Given the description of an element on the screen output the (x, y) to click on. 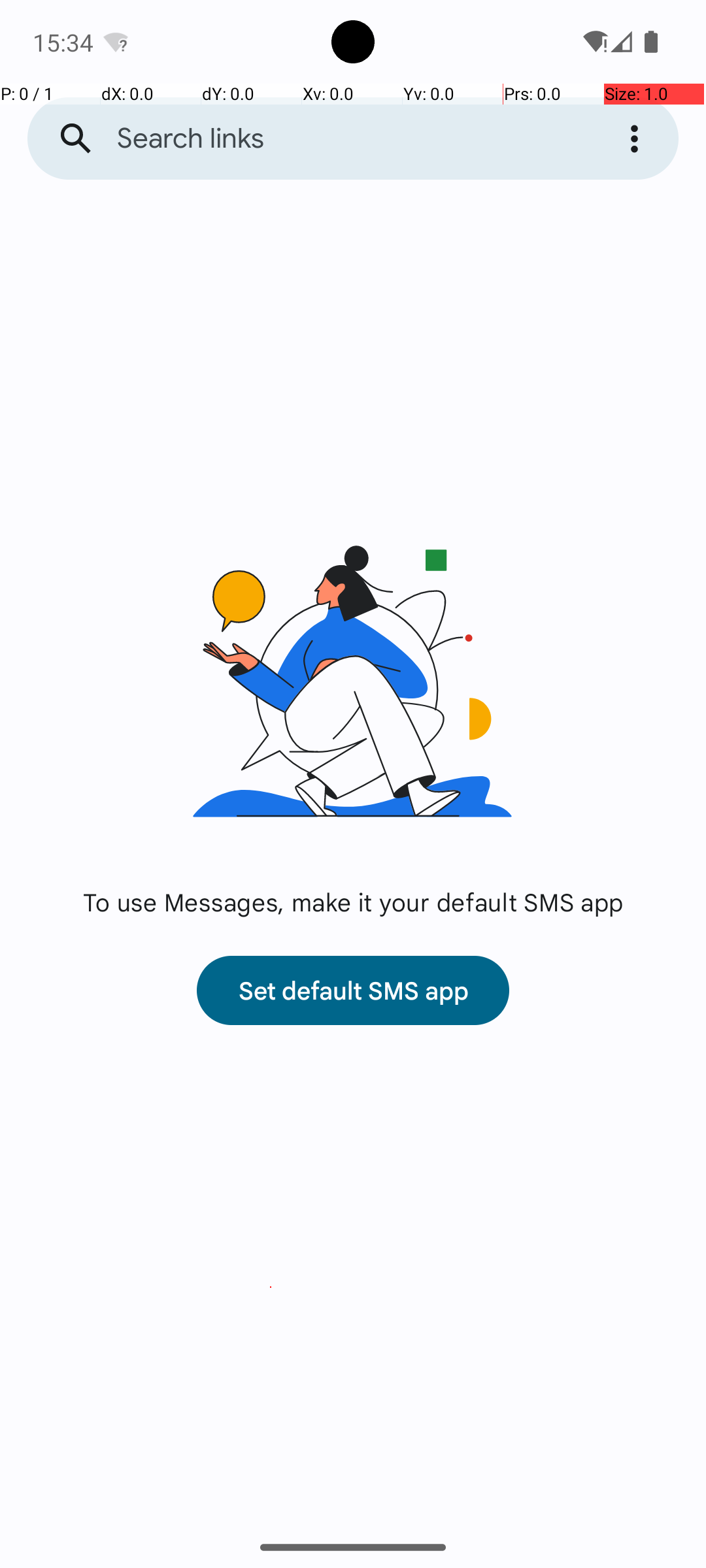
To use Messages, make it your default SMS app Element type: android.widget.TextView (353, 901)
Set default SMS app Element type: android.widget.Button (352, 990)
